Given the description of an element on the screen output the (x, y) to click on. 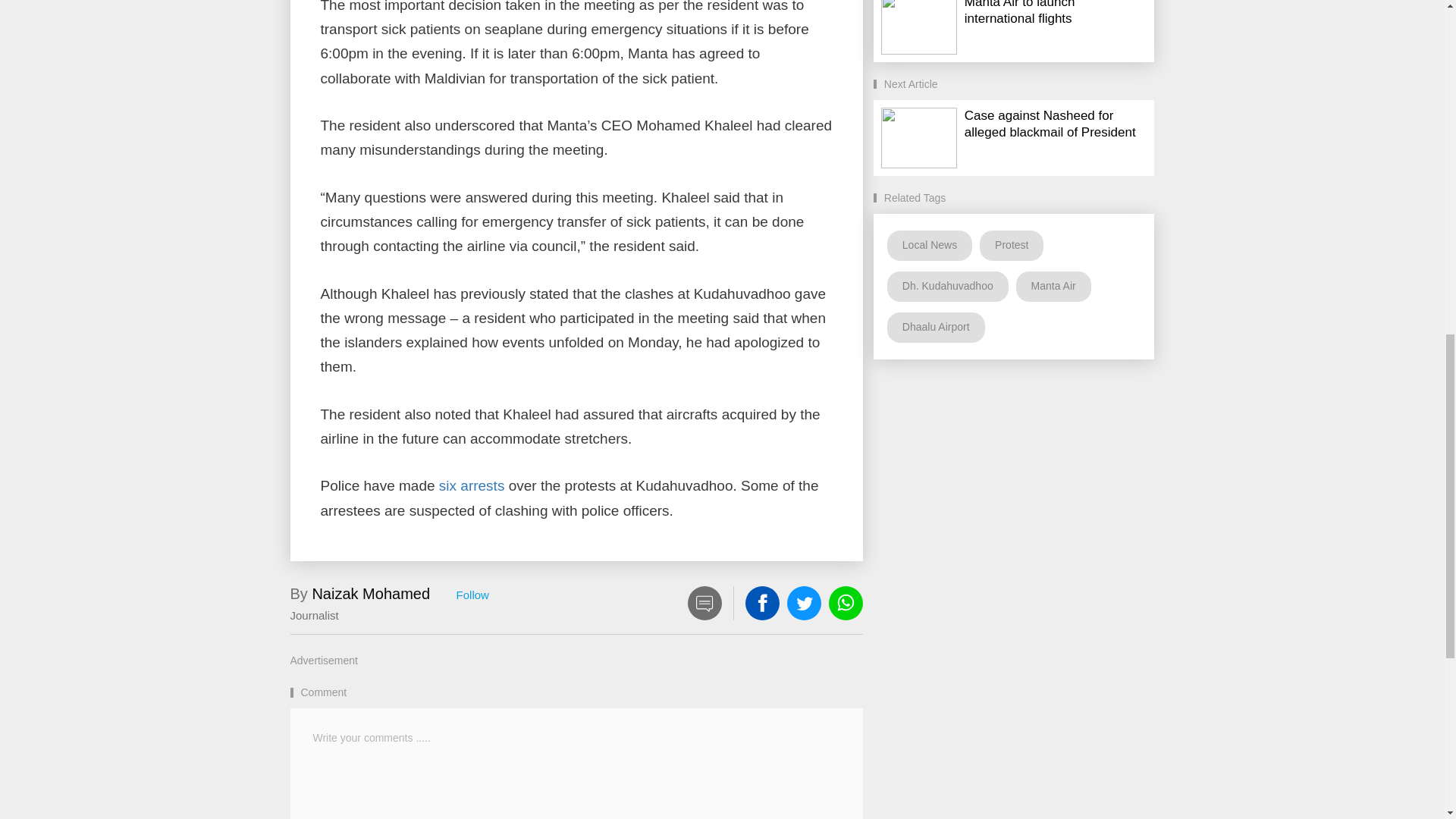
six arrests (472, 485)
Naizak Mohamed (370, 593)
